Given the description of an element on the screen output the (x, y) to click on. 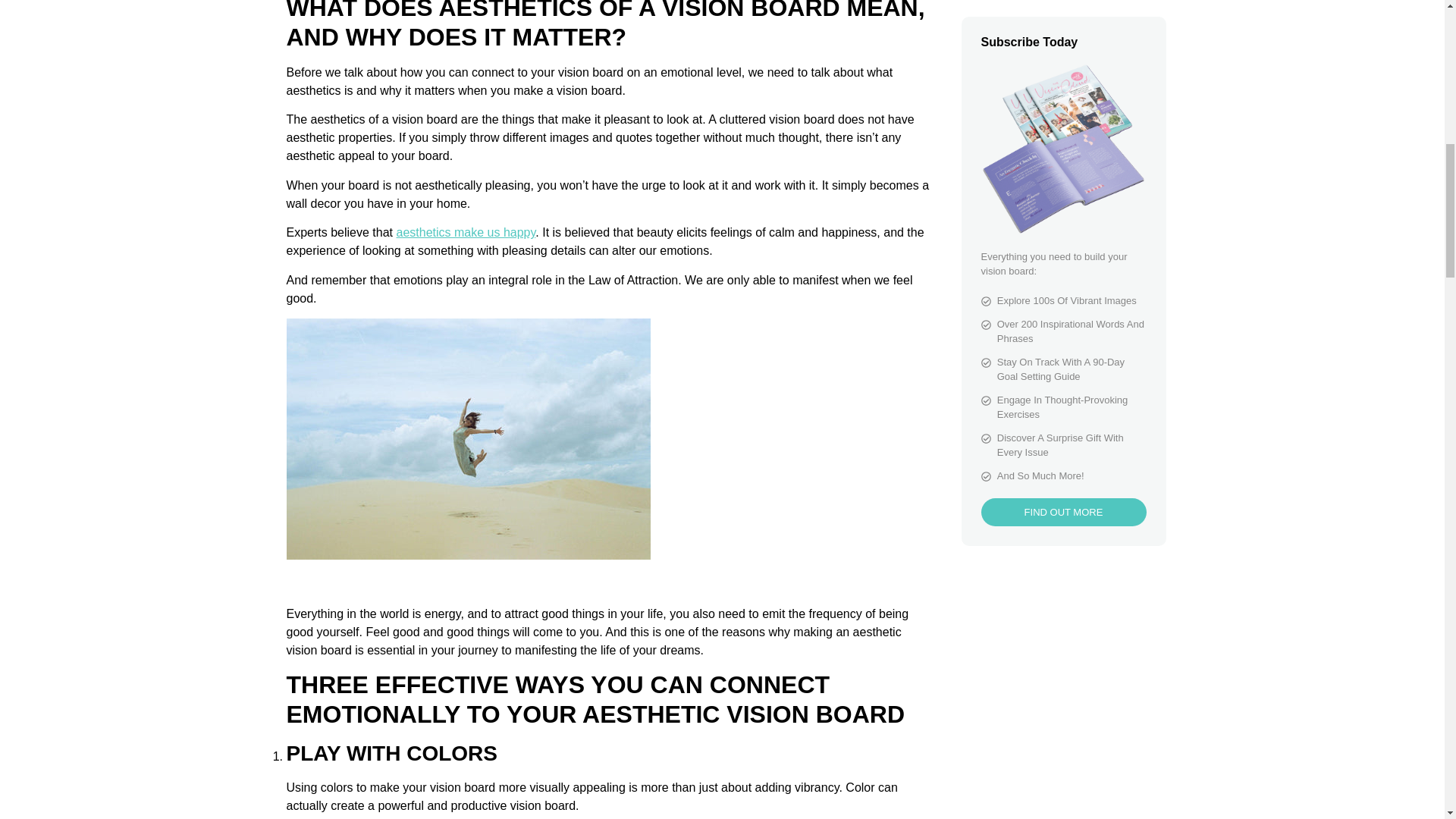
aesthetics make us happy (465, 232)
